Given the description of an element on the screen output the (x, y) to click on. 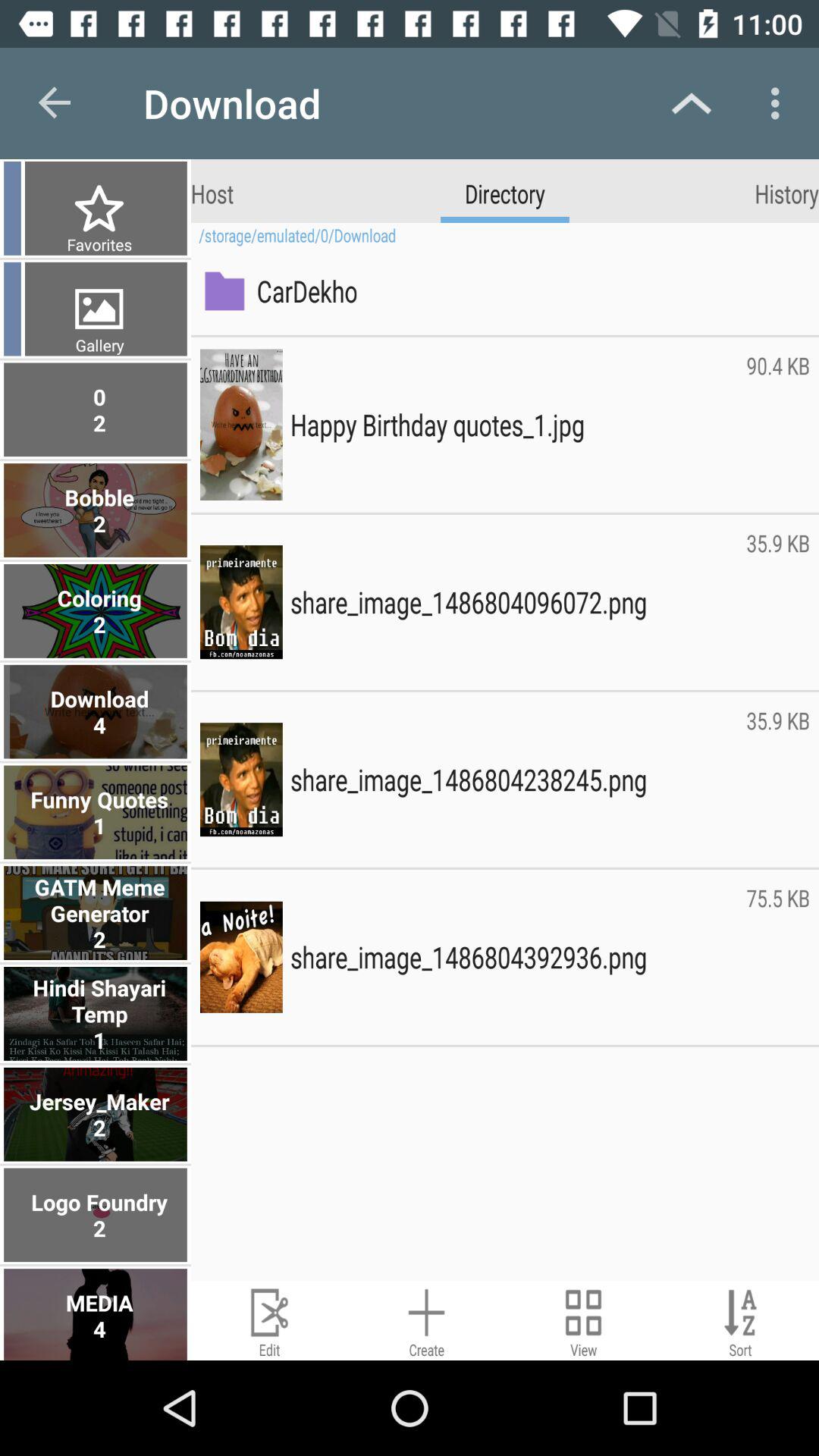
turn on icon above history icon (779, 103)
